Given the description of an element on the screen output the (x, y) to click on. 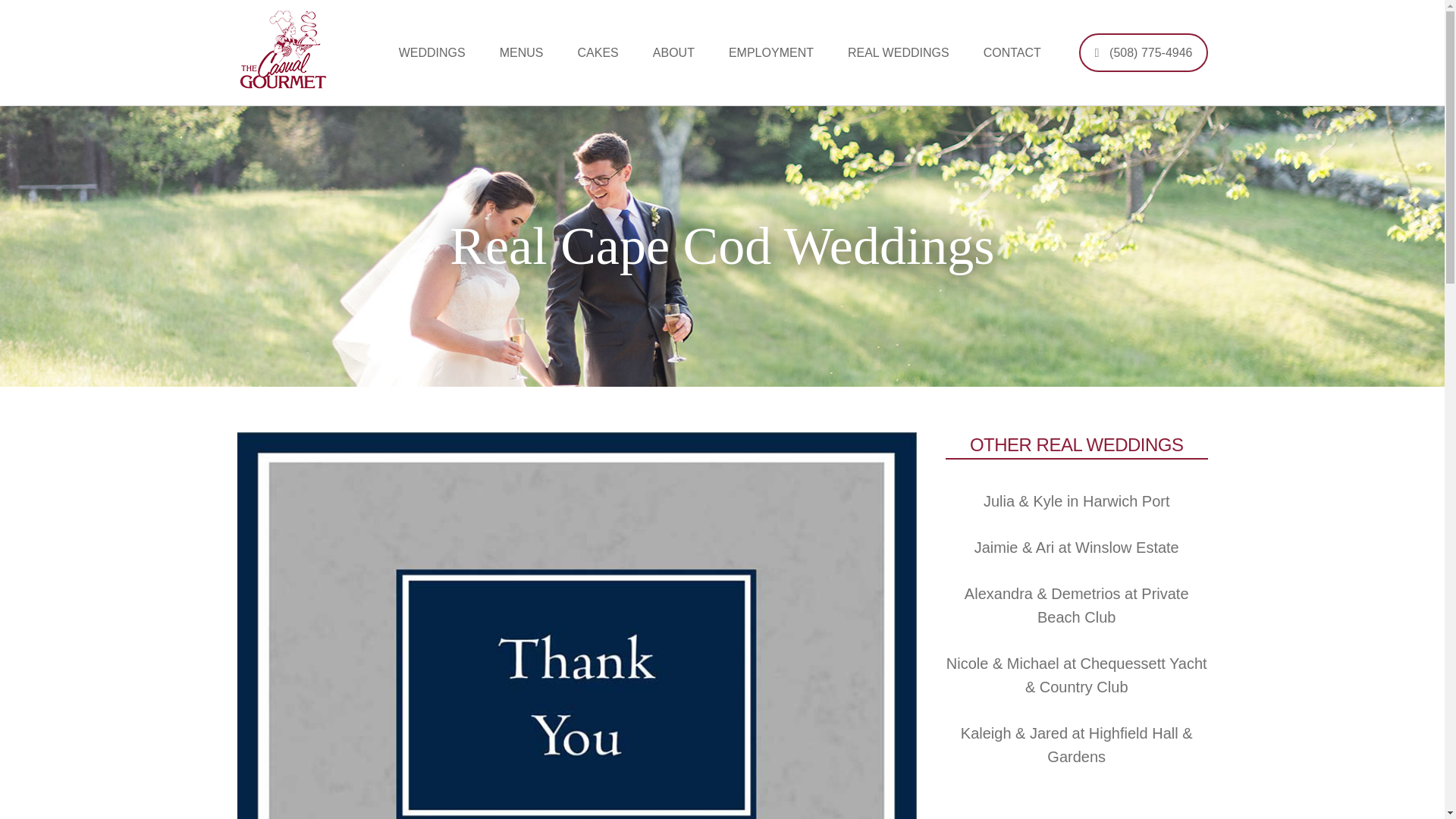
REAL WEDDINGS (897, 53)
EMPLOYMENT (770, 53)
ABOUT (673, 53)
CONTACT (1012, 53)
CAKES (597, 53)
WEDDINGS (432, 53)
MENUS (521, 53)
